Given the description of an element on the screen output the (x, y) to click on. 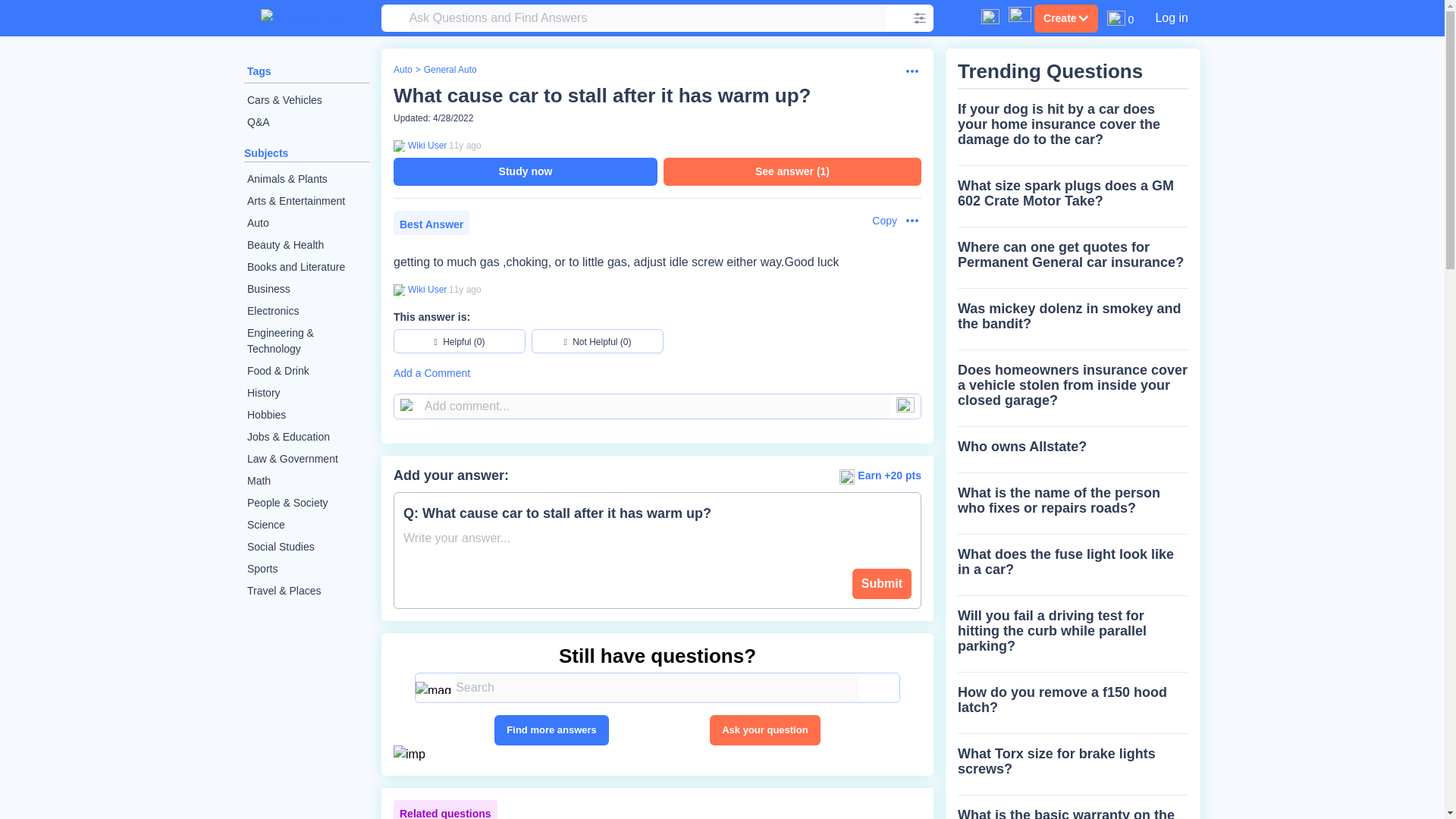
2012-11-05 03:10:18 (464, 289)
Science (306, 525)
History (306, 393)
Subjects (266, 152)
2012-11-05 03:10:18 (464, 145)
Tags (258, 70)
Create (1065, 18)
Sports (306, 568)
General Auto (450, 69)
Find more answers (551, 729)
Business (306, 289)
Study now (525, 171)
Electronics (306, 311)
Ask your question (764, 729)
Auto (306, 223)
